Given the description of an element on the screen output the (x, y) to click on. 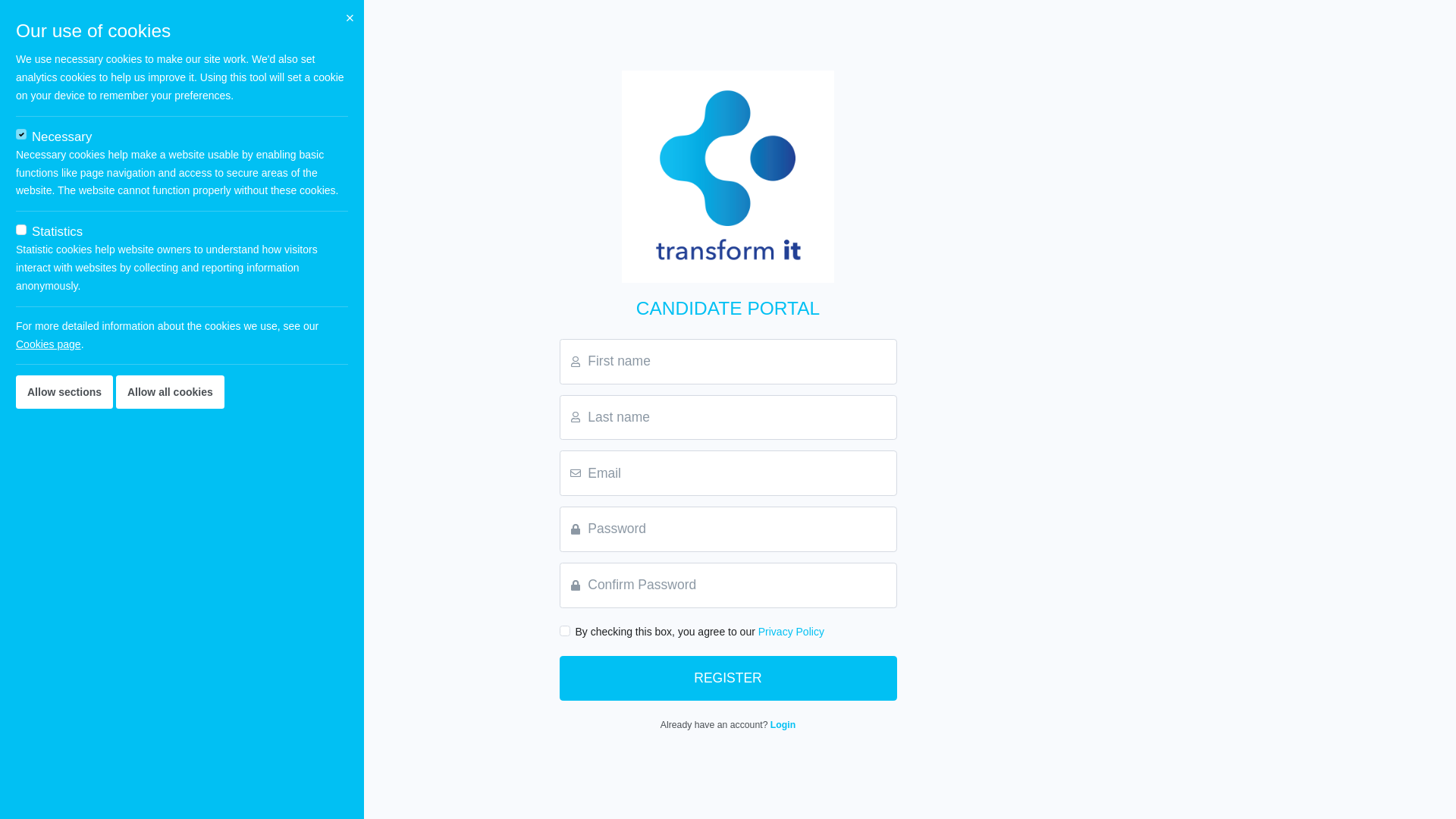
Login Element type: text (782, 724)
REGISTER Element type: text (728, 678)
Cookies page Element type: text (48, 344)
Allow all cookies Element type: text (170, 391)
Allow sections Element type: text (63, 391)
Privacy Policy Element type: text (791, 631)
